Given the description of an element on the screen output the (x, y) to click on. 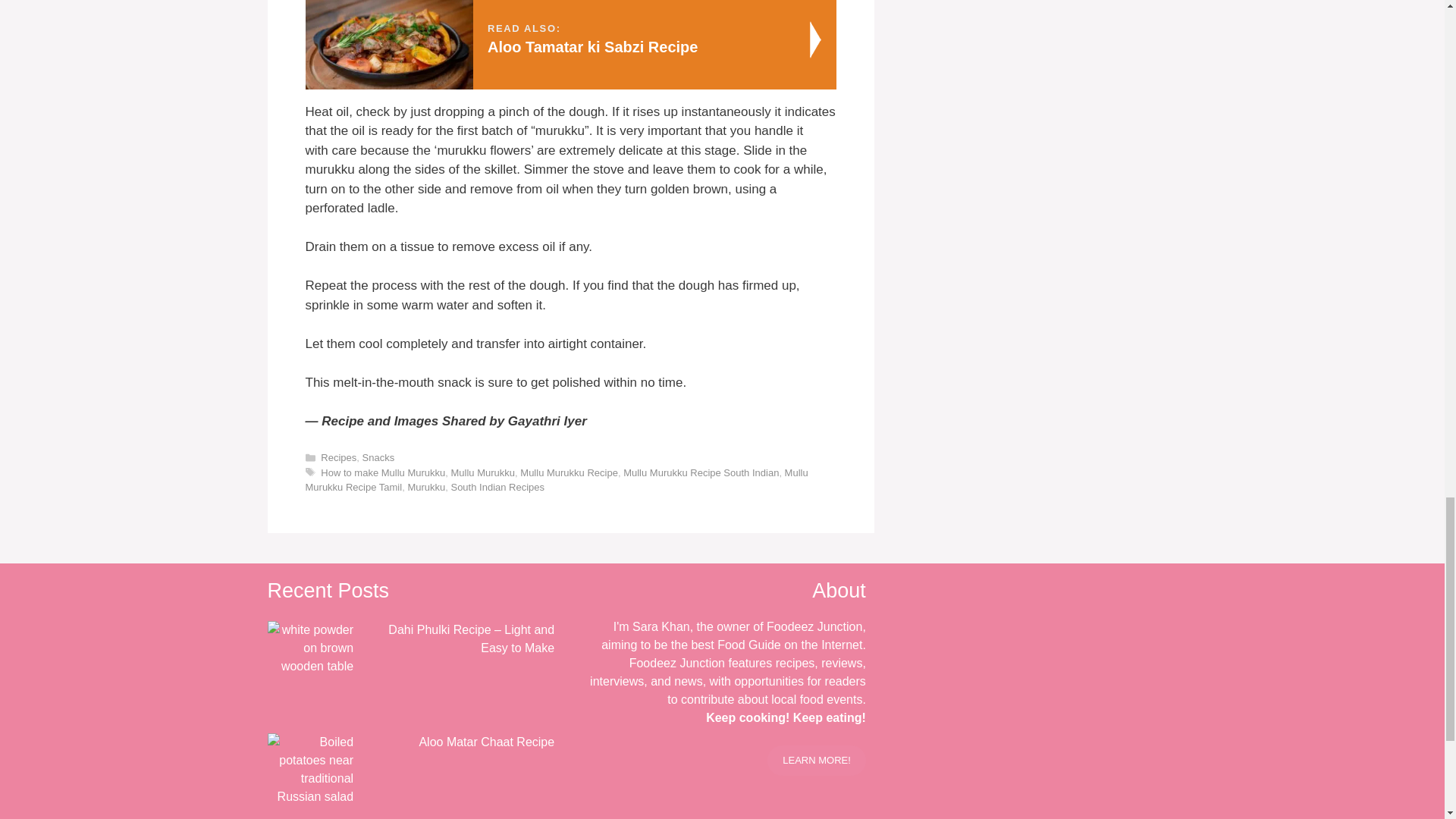
Snacks (378, 457)
Aloo Matar Chaat Recipe (309, 769)
South Indian Recipes (496, 487)
Aloo Matar Chaat Recipe (309, 796)
Mullu Murukku (483, 472)
Mullu Murukku Recipe Tamil (556, 479)
Murukku (426, 487)
Mullu Murukku Recipe (568, 472)
Aloo Matar Chaat Recipe (486, 741)
How to make Mullu Murukku (382, 472)
Recipes (338, 457)
Mullu Murukku Recipe South Indian (569, 44)
